Given the description of an element on the screen output the (x, y) to click on. 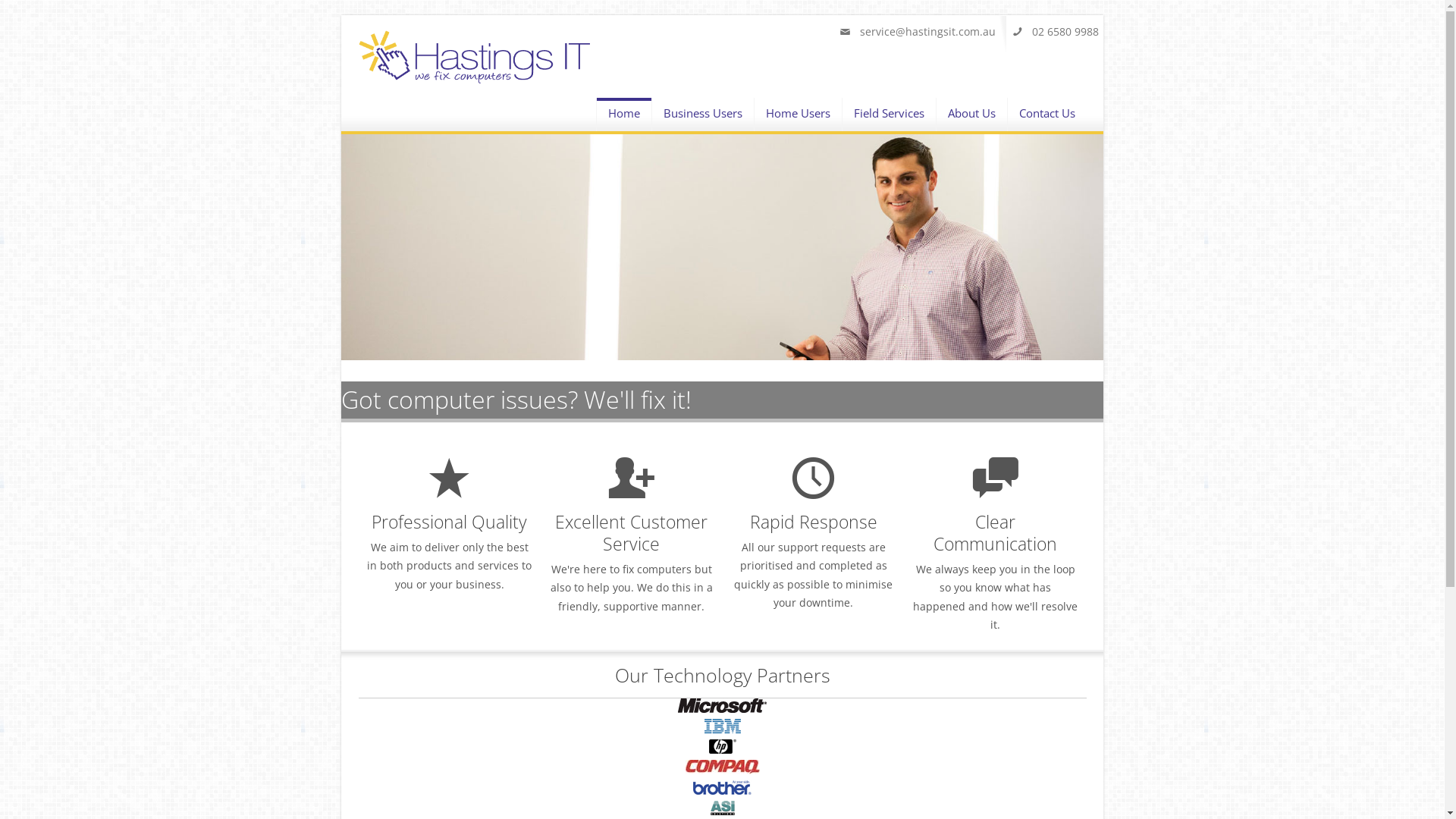
Home Element type: hover (473, 79)
Field Services Element type: text (888, 106)
Home Users Element type: text (796, 106)
Home Element type: text (623, 113)
About Us Element type: text (970, 106)
Business Users Element type: text (702, 106)
Contact Us Element type: text (1046, 106)
